Given the description of an element on the screen output the (x, y) to click on. 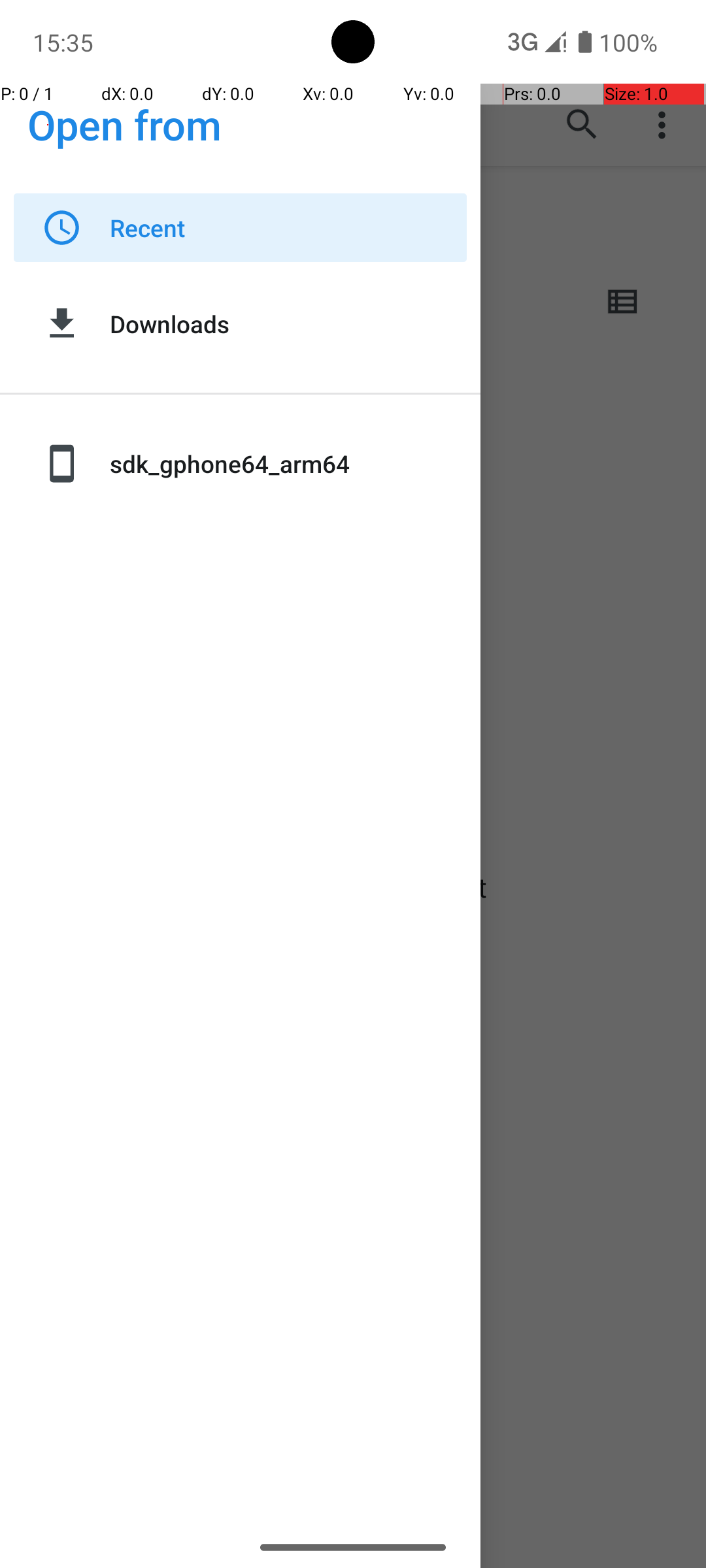
Open from Element type: android.widget.TextView (124, 124)
